Given the description of an element on the screen output the (x, y) to click on. 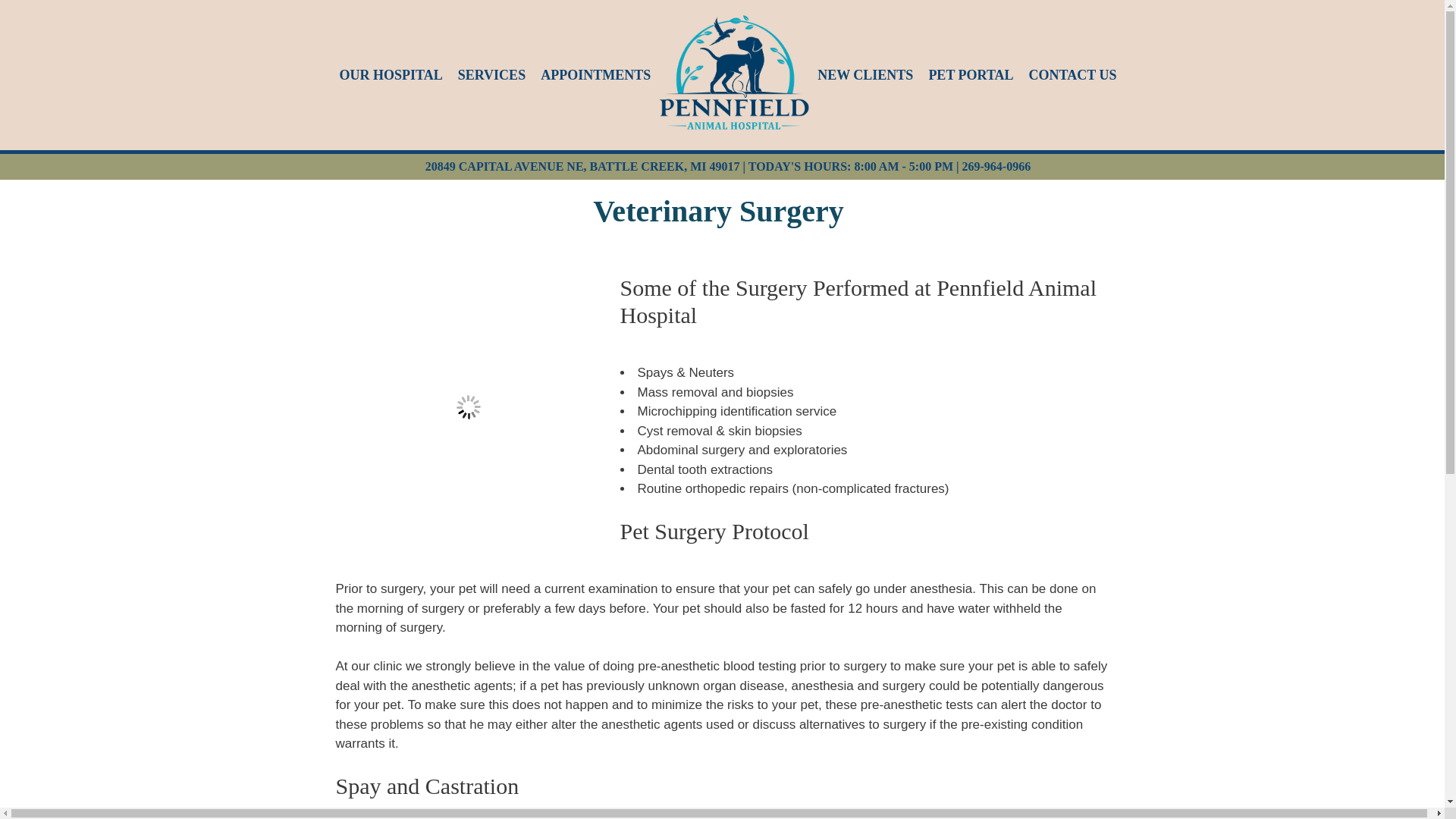
APPOINTMENTS (595, 75)
CONTACT US (1072, 75)
SERVICES (491, 75)
OUR HOSPITAL (390, 75)
269-964-0966 (996, 165)
NEW CLIENTS (864, 75)
PET PORTAL (970, 75)
